Given the description of an element on the screen output the (x, y) to click on. 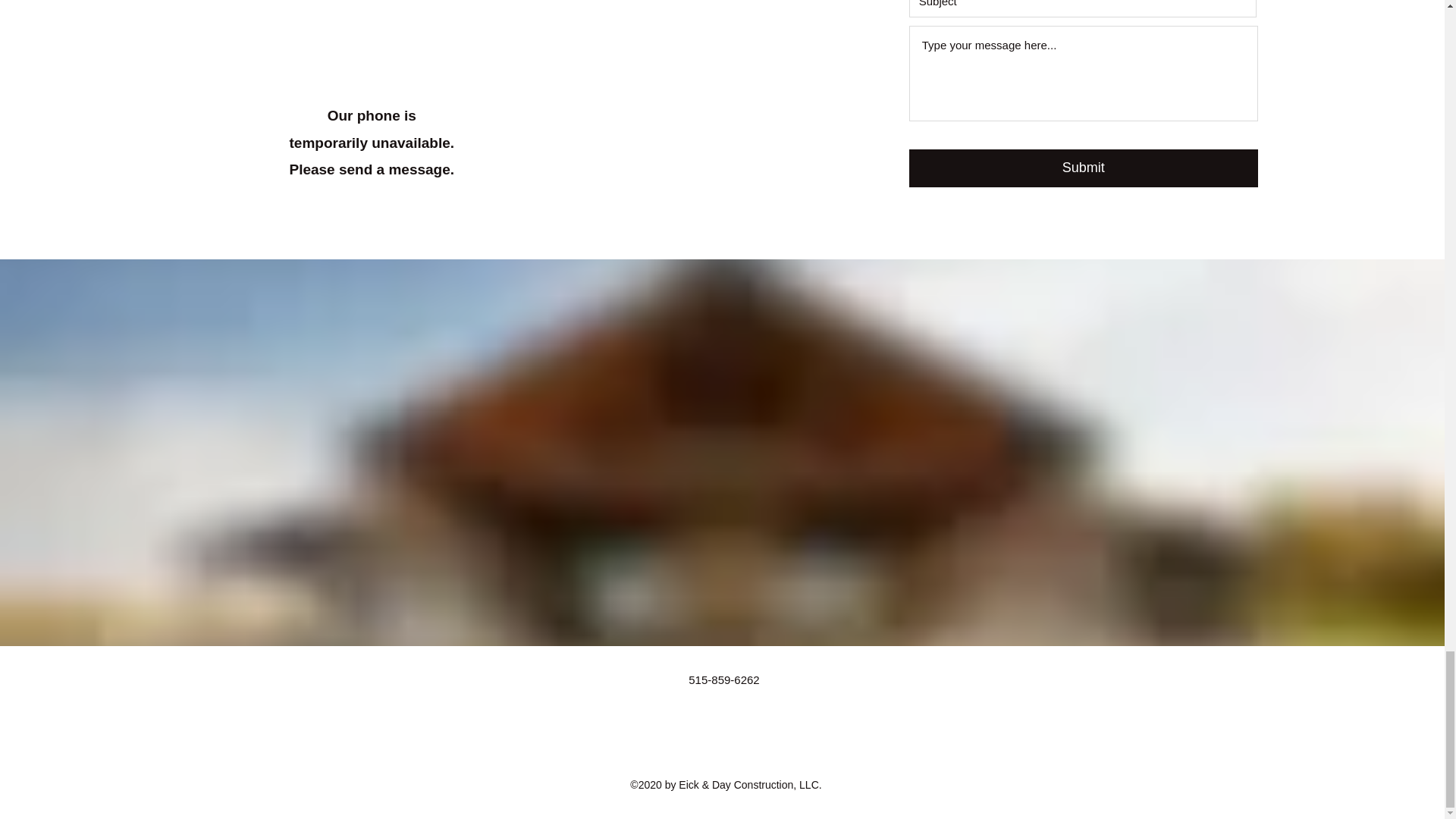
Submit (1082, 168)
